Given the description of an element on the screen output the (x, y) to click on. 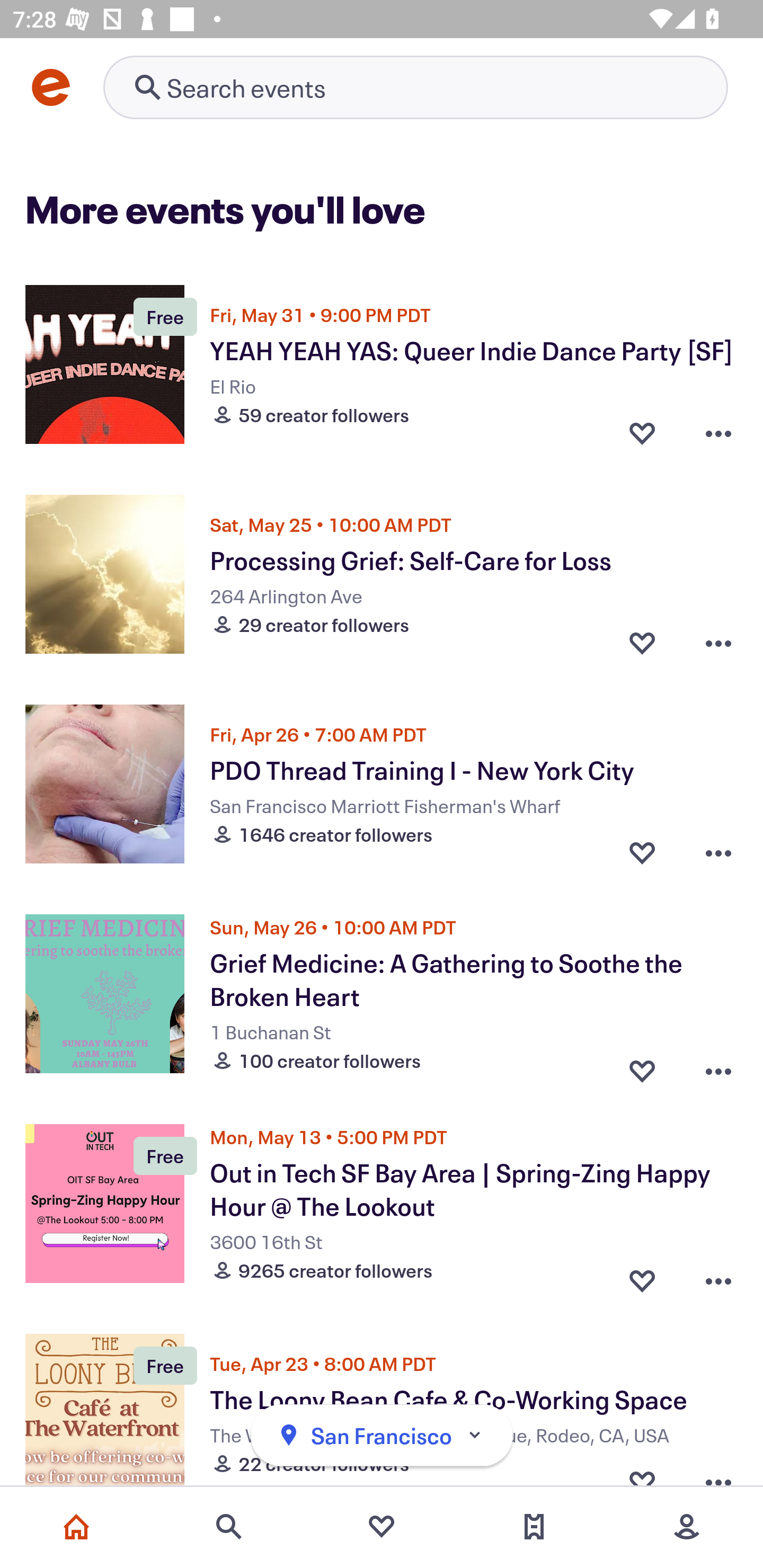
Retry's image Search events (415, 86)
Favorite button (642, 431)
Overflow menu button (718, 431)
Favorite button (642, 641)
Overflow menu button (718, 641)
Favorite button (642, 852)
Overflow menu button (718, 852)
Favorite button (642, 1066)
Overflow menu button (718, 1066)
Favorite button (642, 1275)
Overflow menu button (718, 1275)
San Francisco (381, 1435)
Home (76, 1526)
Search events (228, 1526)
Favorites (381, 1526)
Tickets (533, 1526)
More (686, 1526)
